Given the description of an element on the screen output the (x, y) to click on. 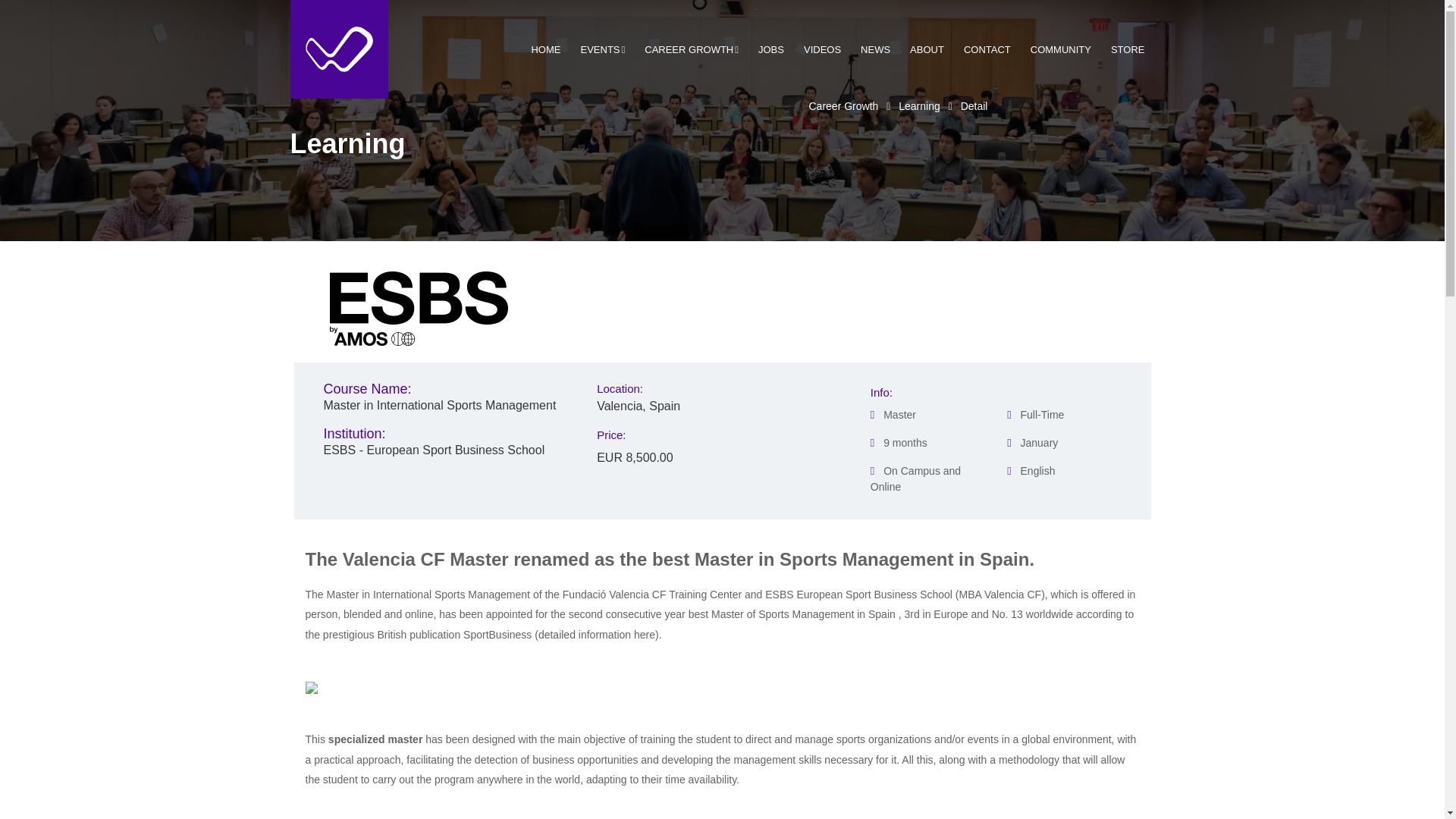
EVENTS (602, 49)
Learning (919, 105)
HOME (545, 49)
COMMUNITY (1060, 49)
NEWS (874, 49)
CAREER GROWTH (691, 49)
JOBS (770, 49)
ABOUT (926, 49)
VIDEOS (821, 49)
ESBS - European Sport Business School (448, 450)
